Given the description of an element on the screen output the (x, y) to click on. 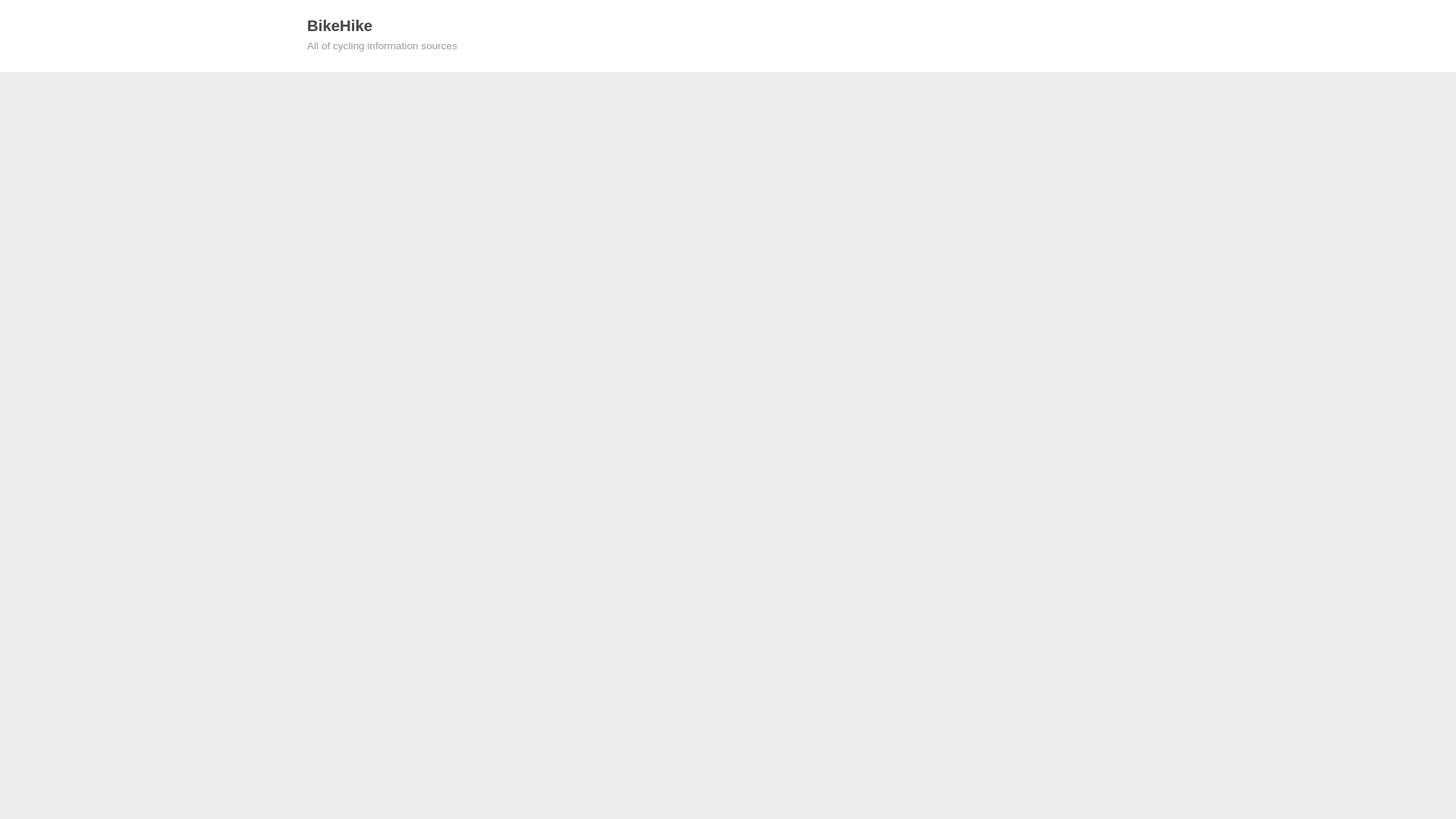
BikeHike (339, 25)
